Given the description of an element on the screen output the (x, y) to click on. 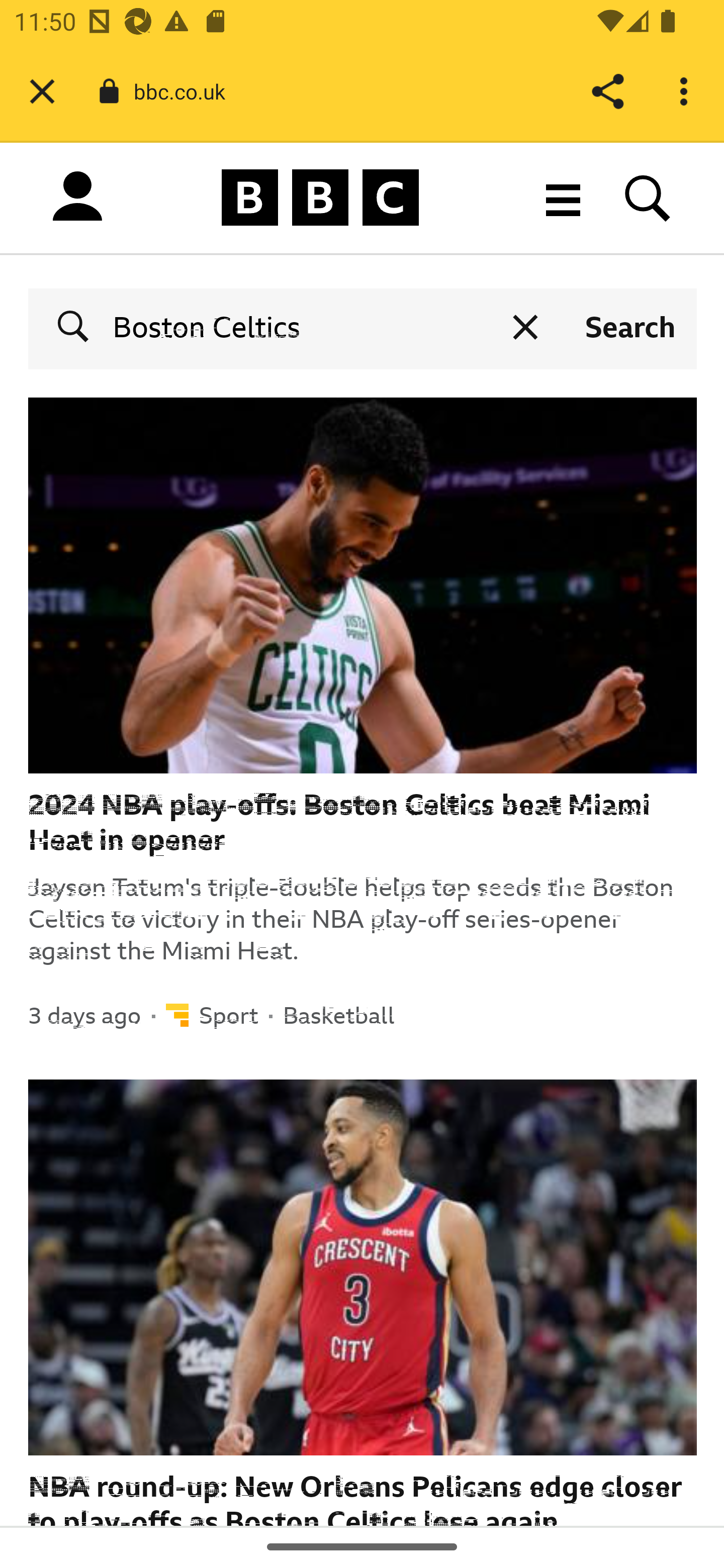
Close tab (42, 91)
Share (607, 91)
More options (687, 91)
Connection is secure (108, 91)
bbc.co.uk (186, 90)
Sign in (77, 200)
BBC Homepage (320, 197)
More menu (563, 197)
Search BBC (648, 197)
Boston Celtics (296, 326)
Clear (524, 326)
Search (630, 326)
